Given the description of an element on the screen output the (x, y) to click on. 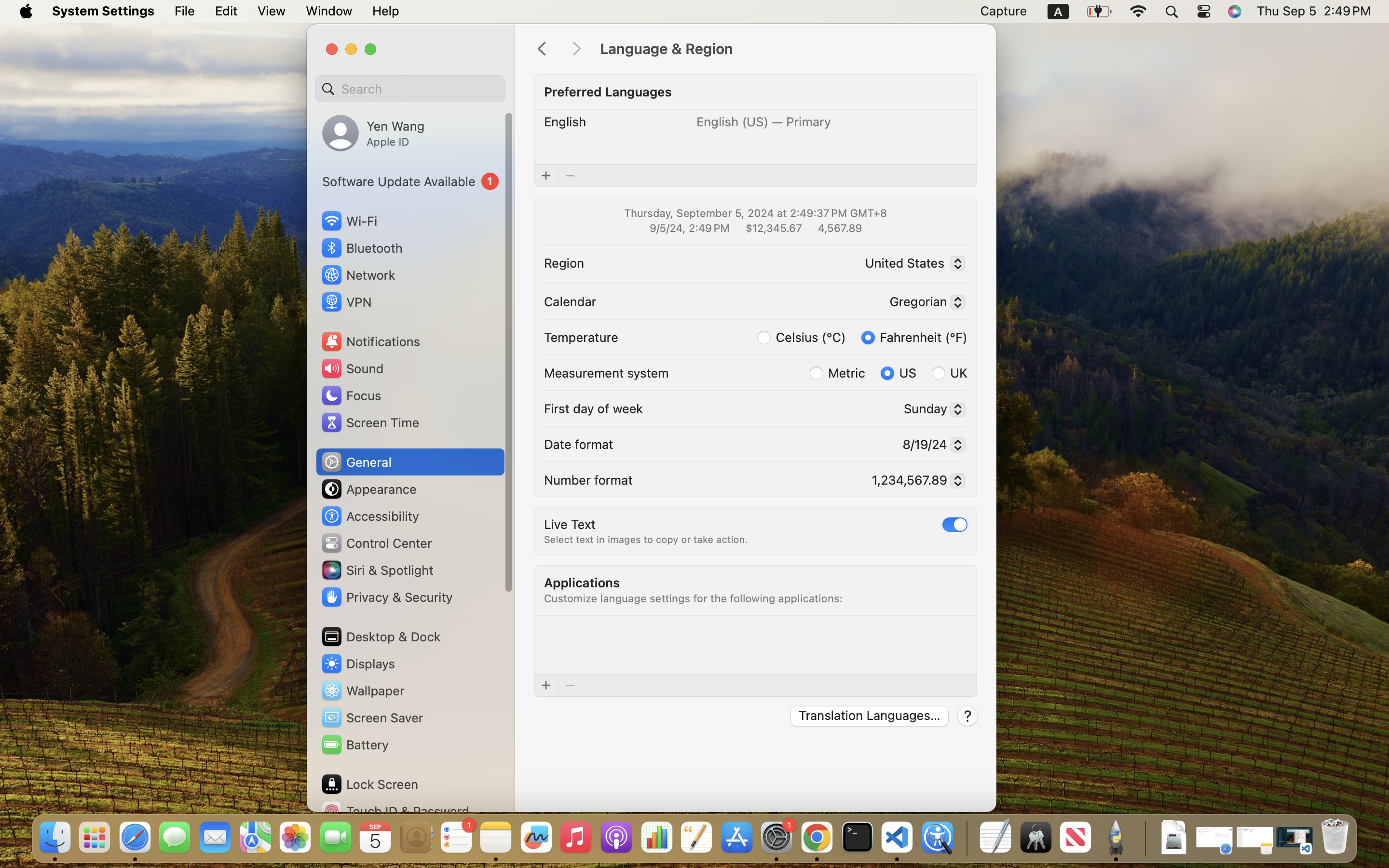
Select text in images to copy or take action. Element type: AXStaticText (646, 539)
Date format Element type: AXStaticText (578, 443)
9/5/24, 2:49 PM Element type: AXStaticText (689, 227)
Accessibility Element type: AXStaticText (369, 515)
Siri & Spotlight Element type: AXStaticText (376, 569)
